Given the description of an element on the screen output the (x, y) to click on. 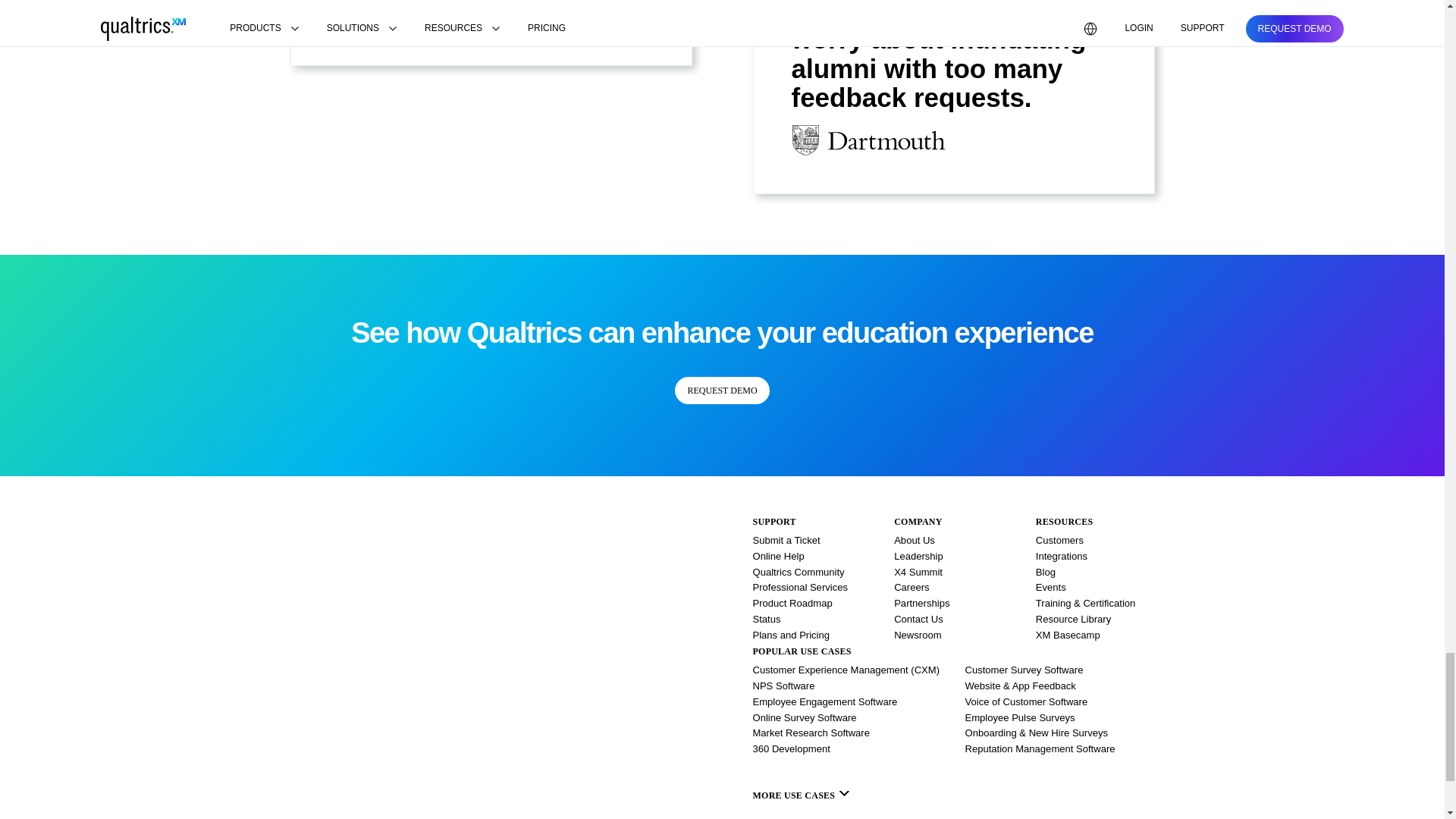
Dartmouth College Logo (869, 140)
University Of Michigan Logo (352, 13)
